Given the description of an element on the screen output the (x, y) to click on. 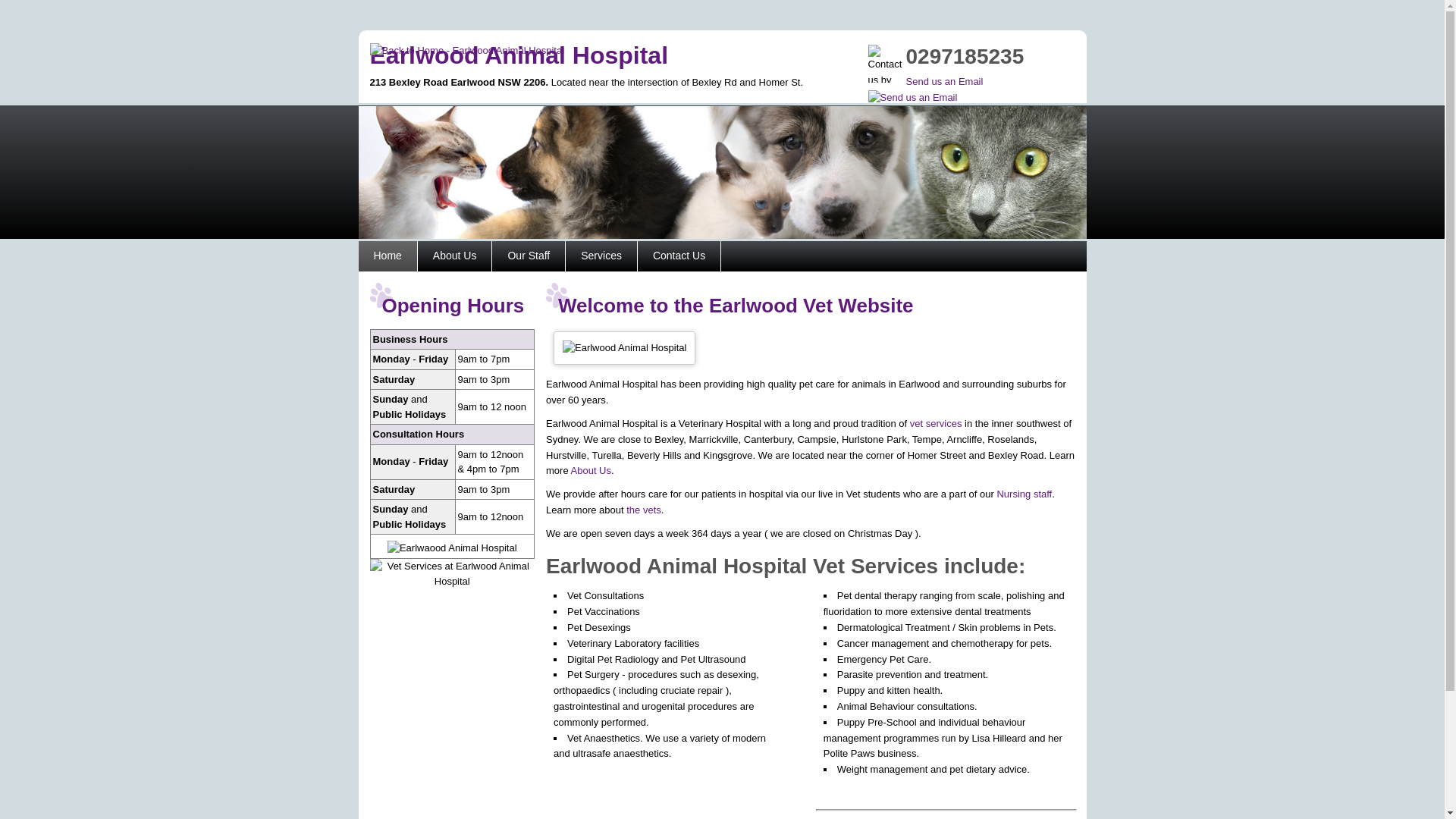
Contact Us Element type: text (679, 256)
Home Element type: text (387, 256)
Services Element type: text (601, 256)
the vets Element type: text (643, 509)
Nursing staff Element type: text (1023, 493)
Send us an Email Element type: text (924, 89)
About Us Element type: text (591, 470)
About Us Element type: text (454, 256)
vet services Element type: text (936, 423)
Our Staff Element type: text (528, 256)
